Given the description of an element on the screen output the (x, y) to click on. 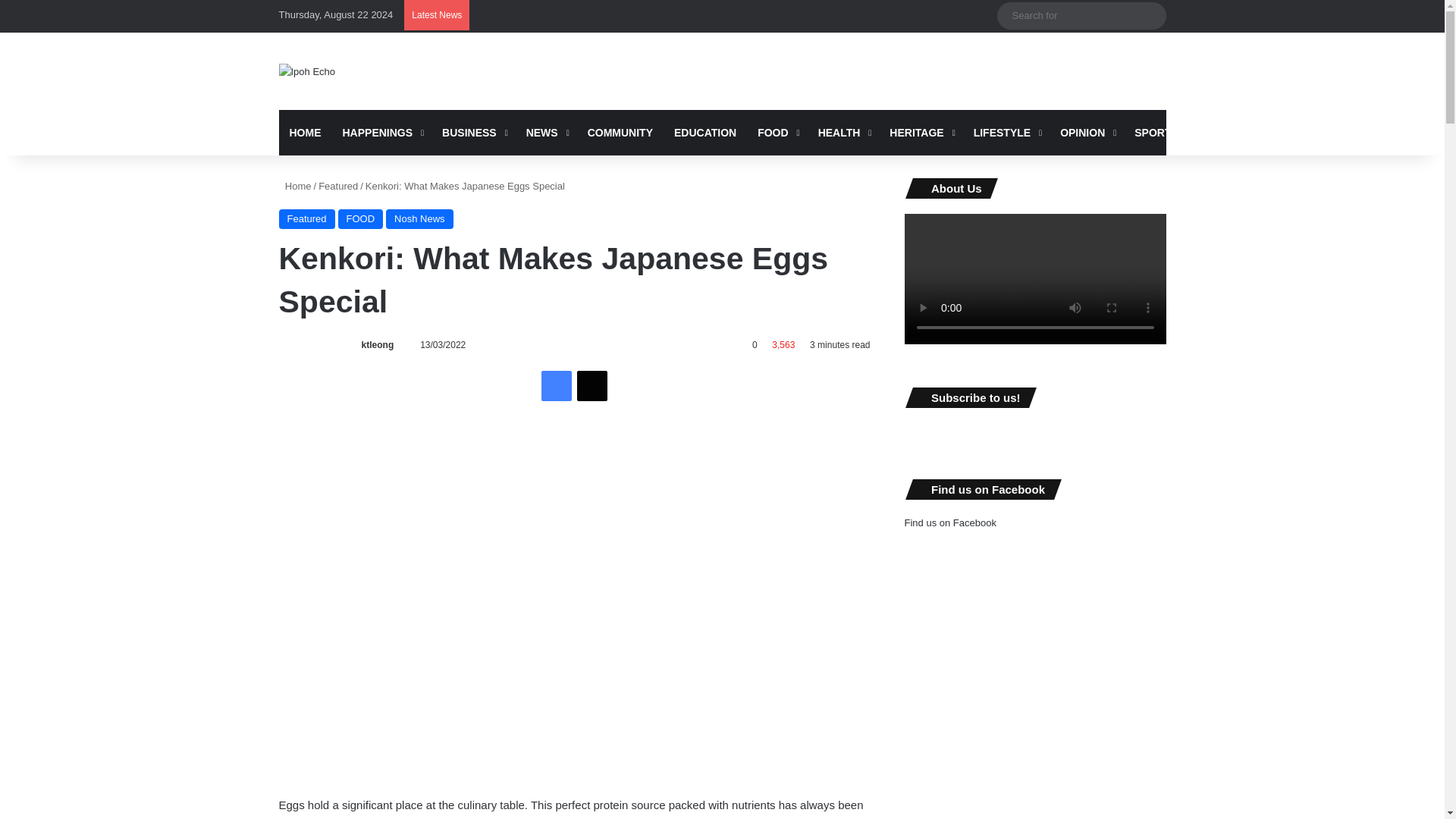
HOME (305, 132)
COMMUNITY (619, 132)
FOOD (776, 132)
Search for (1080, 15)
HERITAGE (920, 132)
ktleong (377, 344)
HAPPENINGS (381, 132)
BUSINESS (472, 132)
Search for (1150, 15)
NEWS (545, 132)
